Given the description of an element on the screen output the (x, y) to click on. 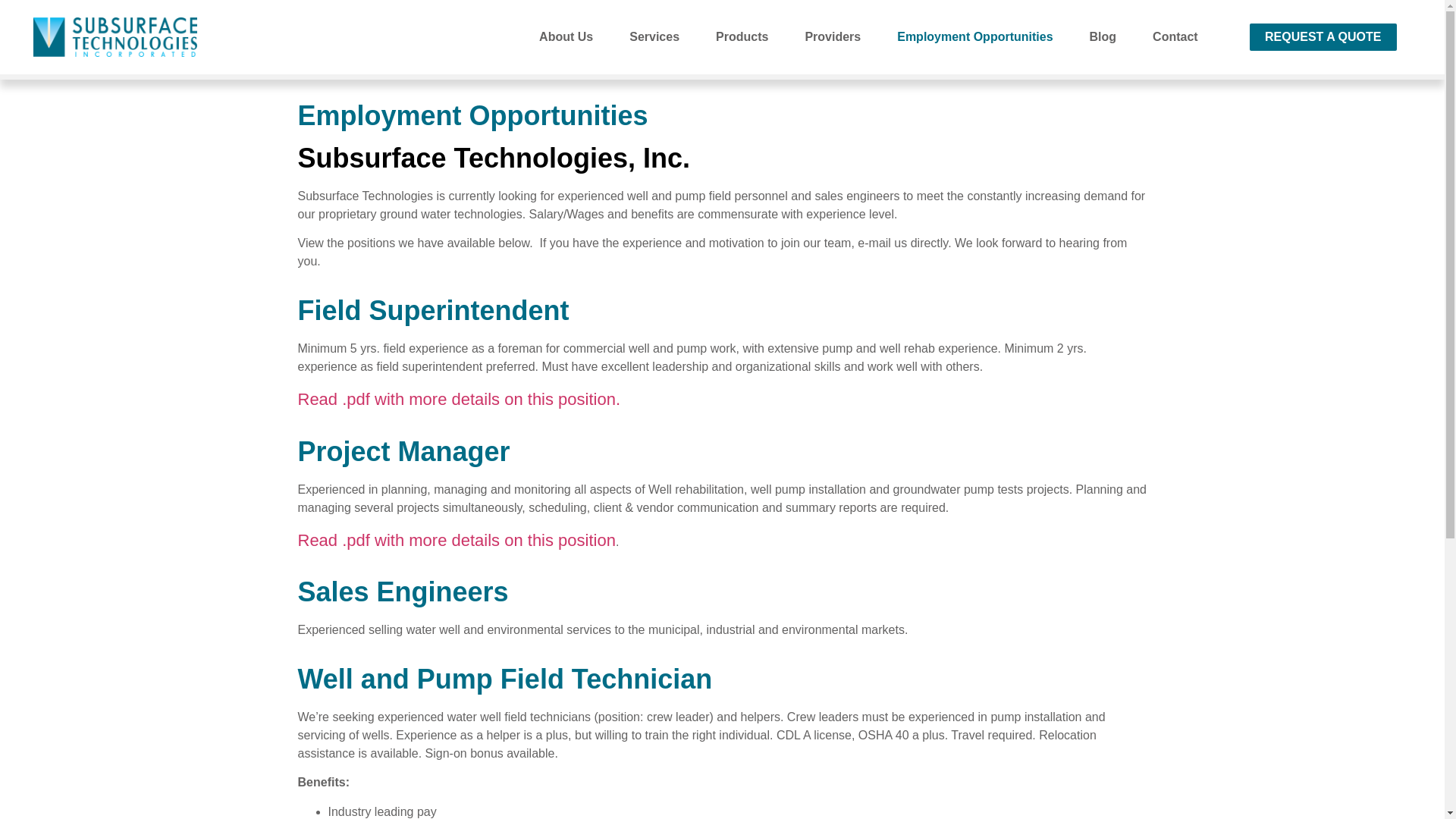
Blog (1103, 36)
Products (741, 36)
Employment Opportunities (974, 36)
Contact (1174, 36)
Providers (832, 36)
About Us (566, 36)
Services (654, 36)
